Given the description of an element on the screen output the (x, y) to click on. 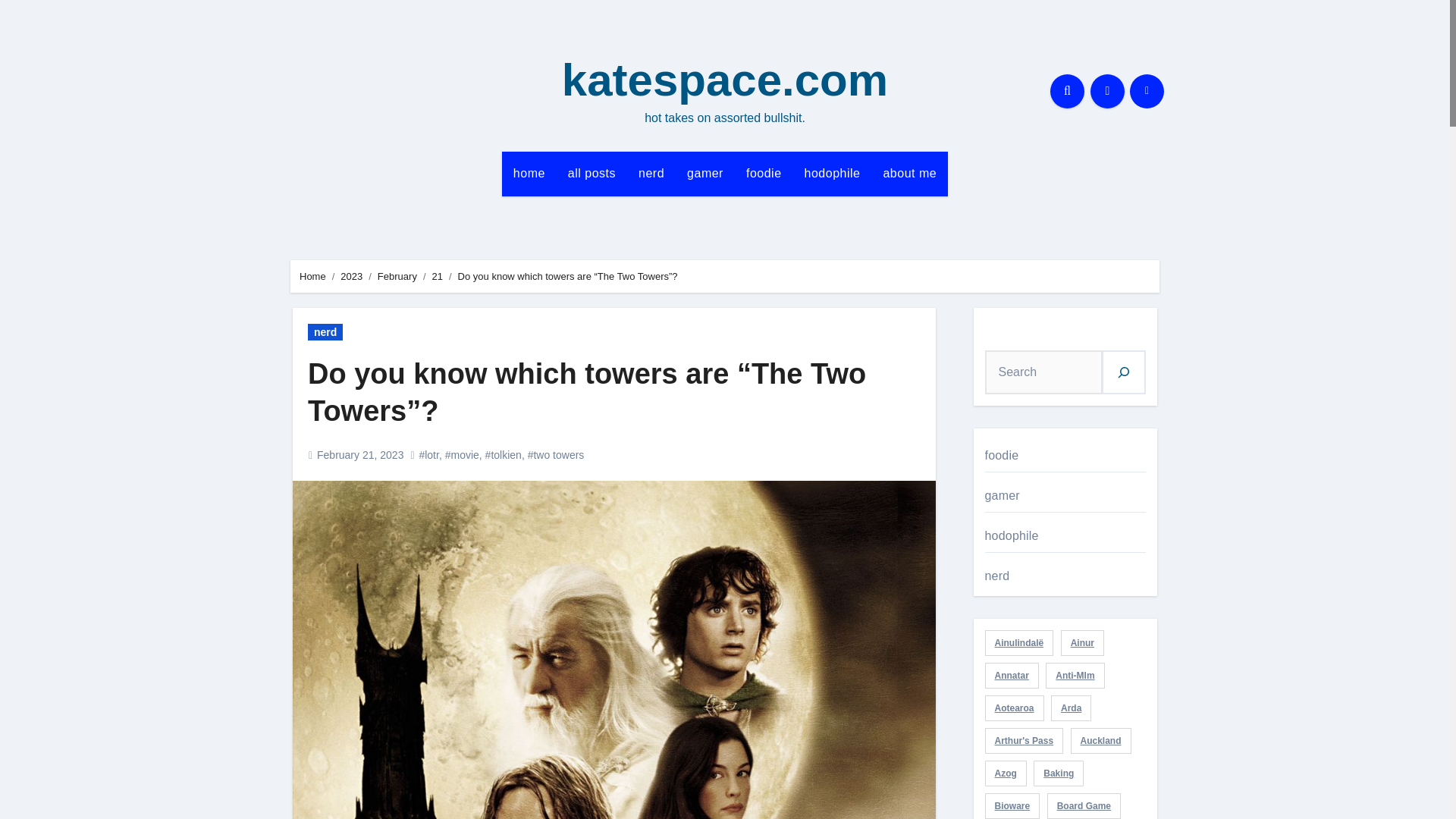
2023 (351, 276)
gamer (705, 173)
katespace.com (725, 79)
February 21, 2023 (360, 454)
nerd (324, 331)
February (396, 276)
Home (312, 276)
hodophile (832, 173)
about me (908, 173)
all posts (591, 173)
home (529, 173)
nerd (651, 173)
home (529, 173)
hodophile (832, 173)
foodie (764, 173)
